Given the description of an element on the screen output the (x, y) to click on. 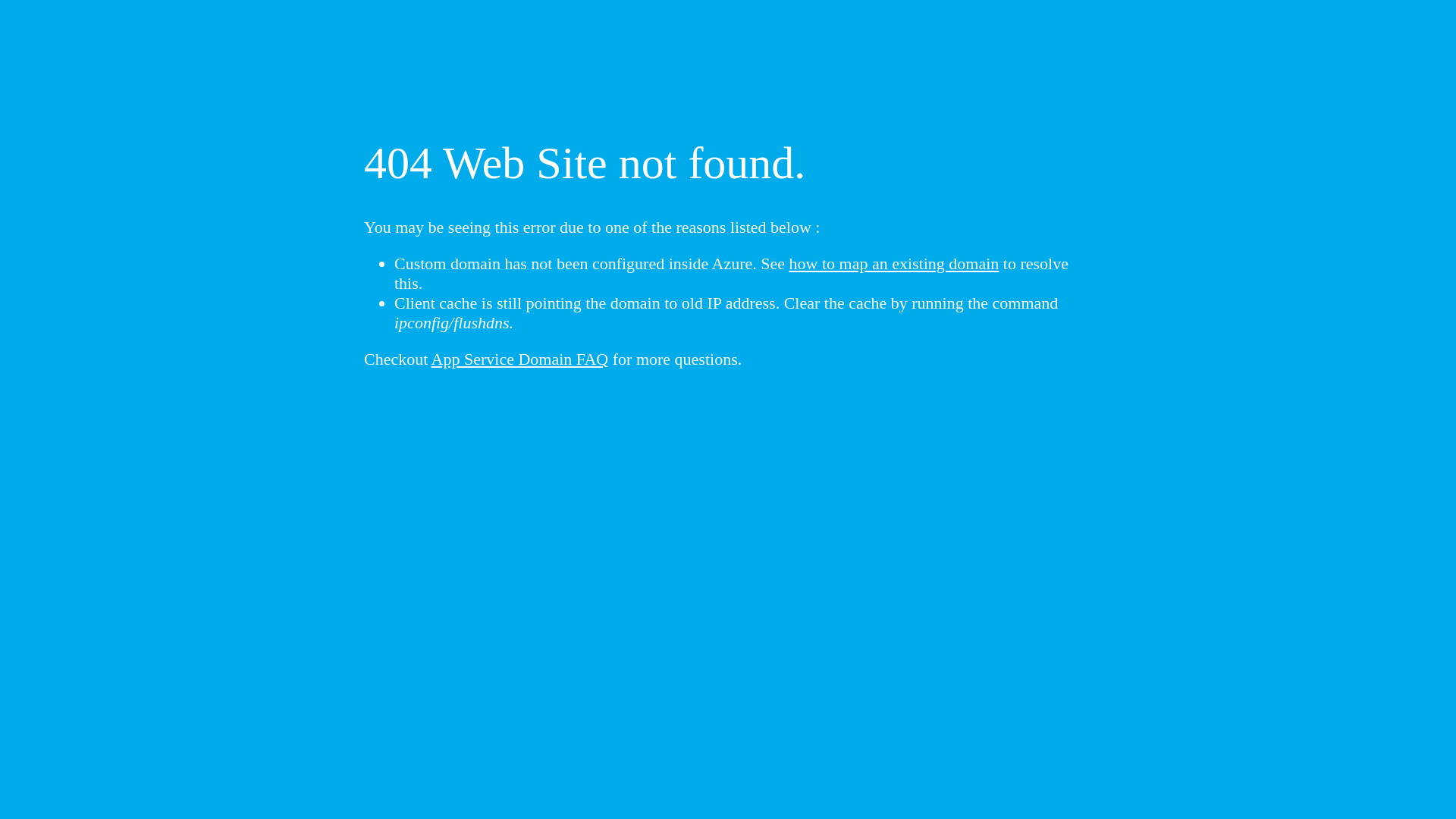
App Service Domain FAQ Element type: text (519, 358)
how to map an existing domain Element type: text (894, 263)
